Given the description of an element on the screen output the (x, y) to click on. 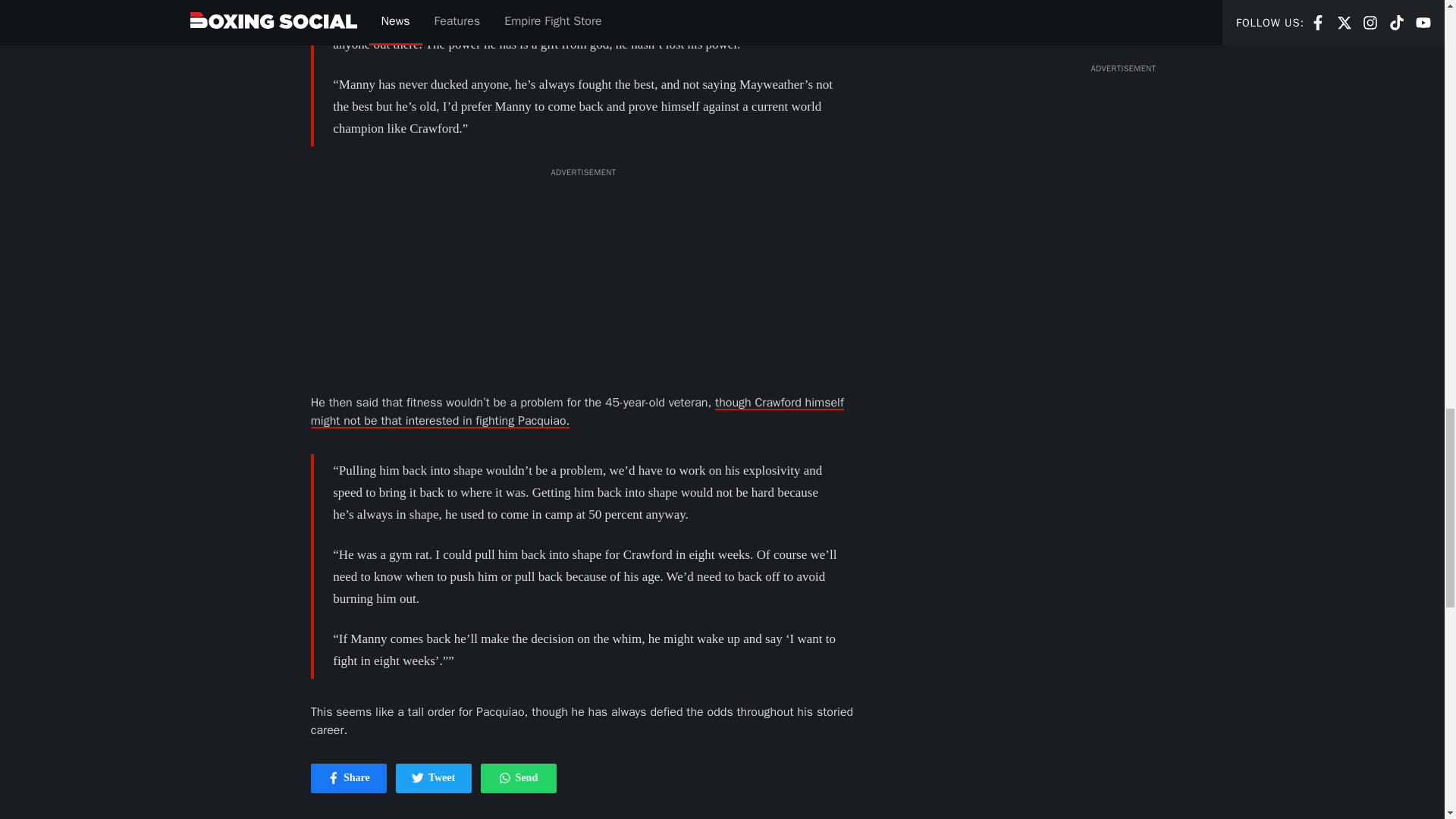
Facebook (333, 777)
WhatsApp (518, 778)
Twitter (349, 778)
